Given the description of an element on the screen output the (x, y) to click on. 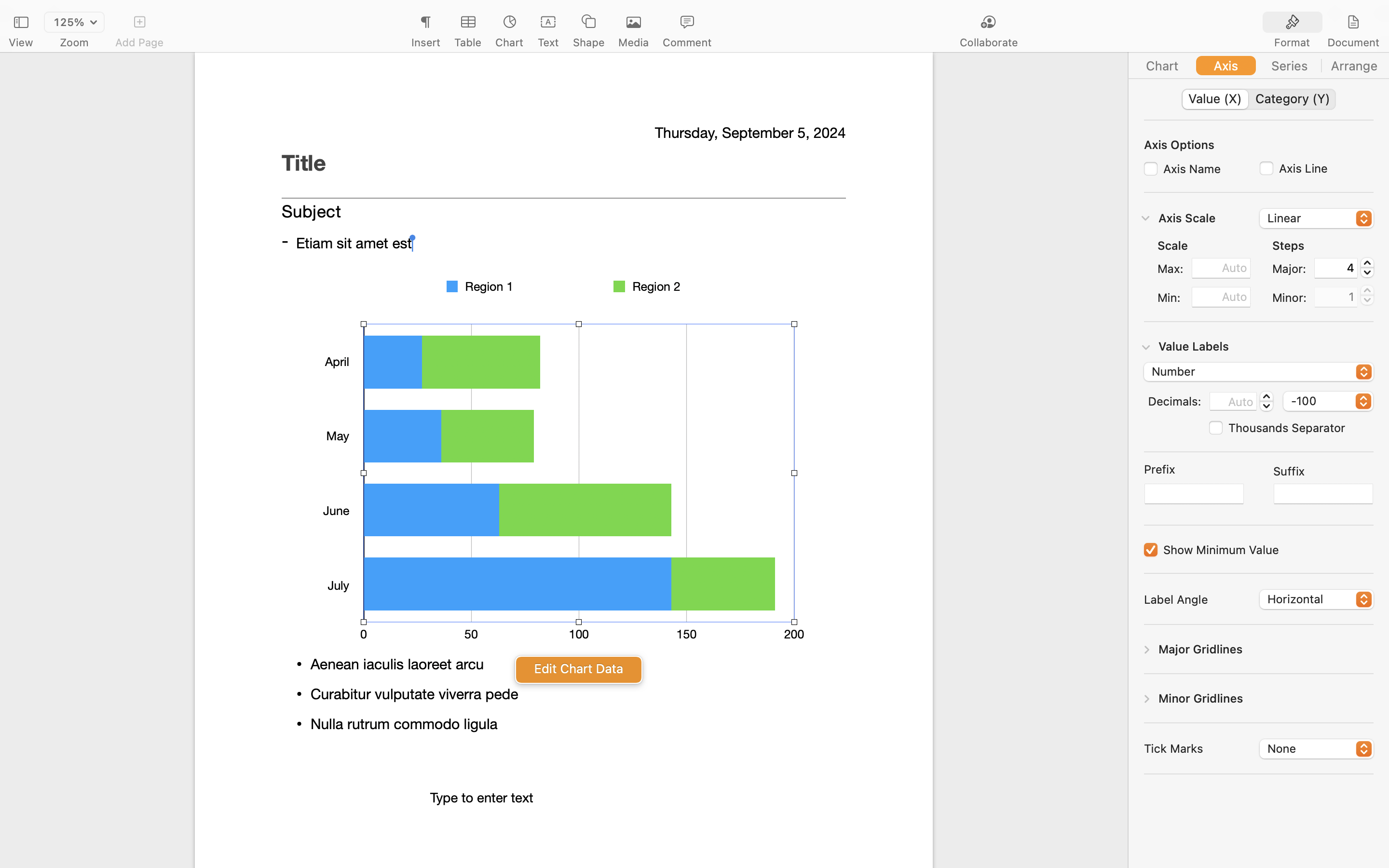
4.0 Element type: AXIncrementor (1367, 267)
1.0 Element type: AXIncrementor (1367, 294)
Axis Scale Element type: AXStaticText (1186, 217)
Minor Gridlines Element type: AXStaticText (1200, 697)
